Given the description of an element on the screen output the (x, y) to click on. 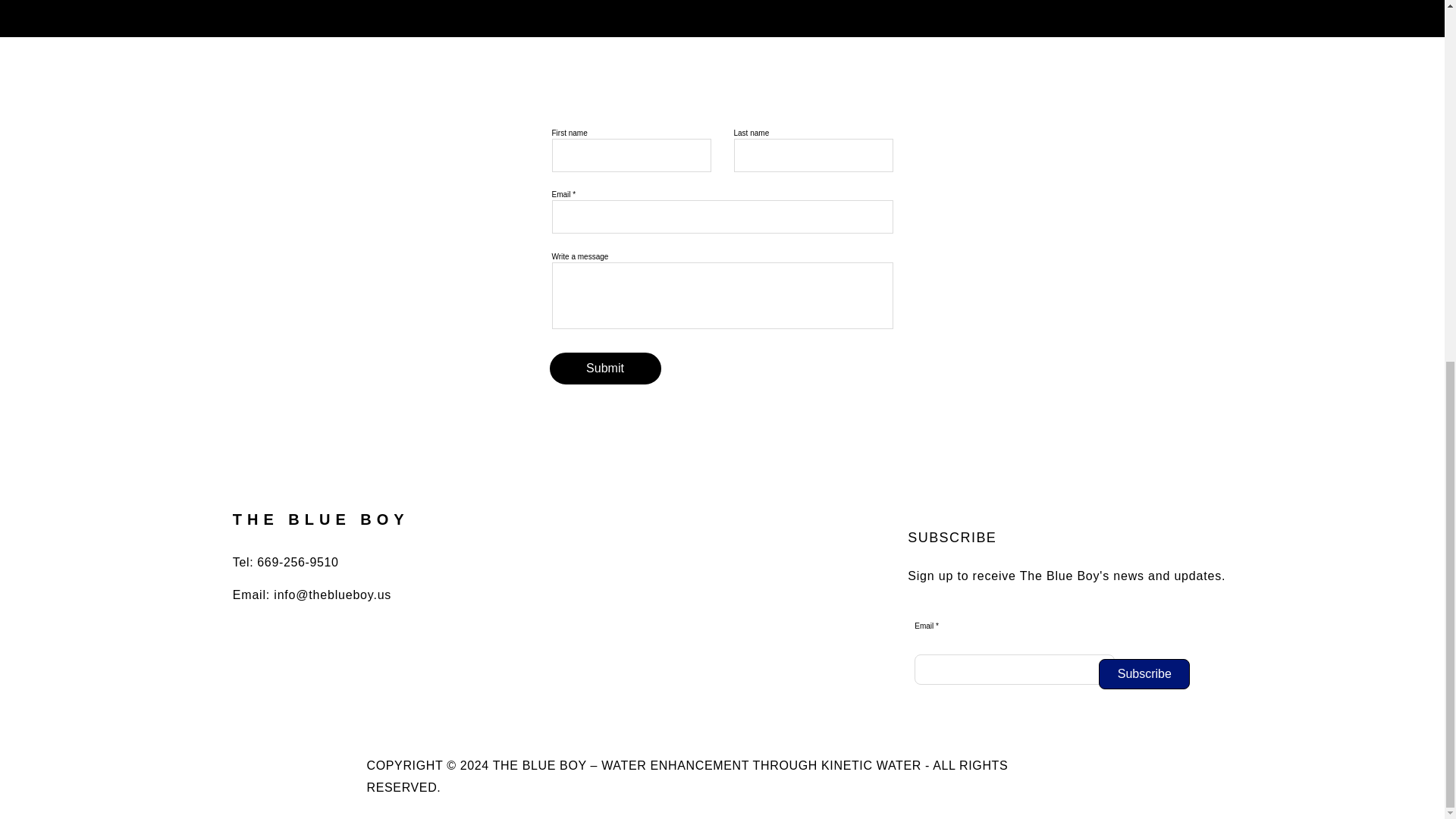
Submit (604, 368)
Subscribe (1144, 674)
669-256-9510 (297, 562)
THE BLUE BOY (320, 519)
